Given the description of an element on the screen output the (x, y) to click on. 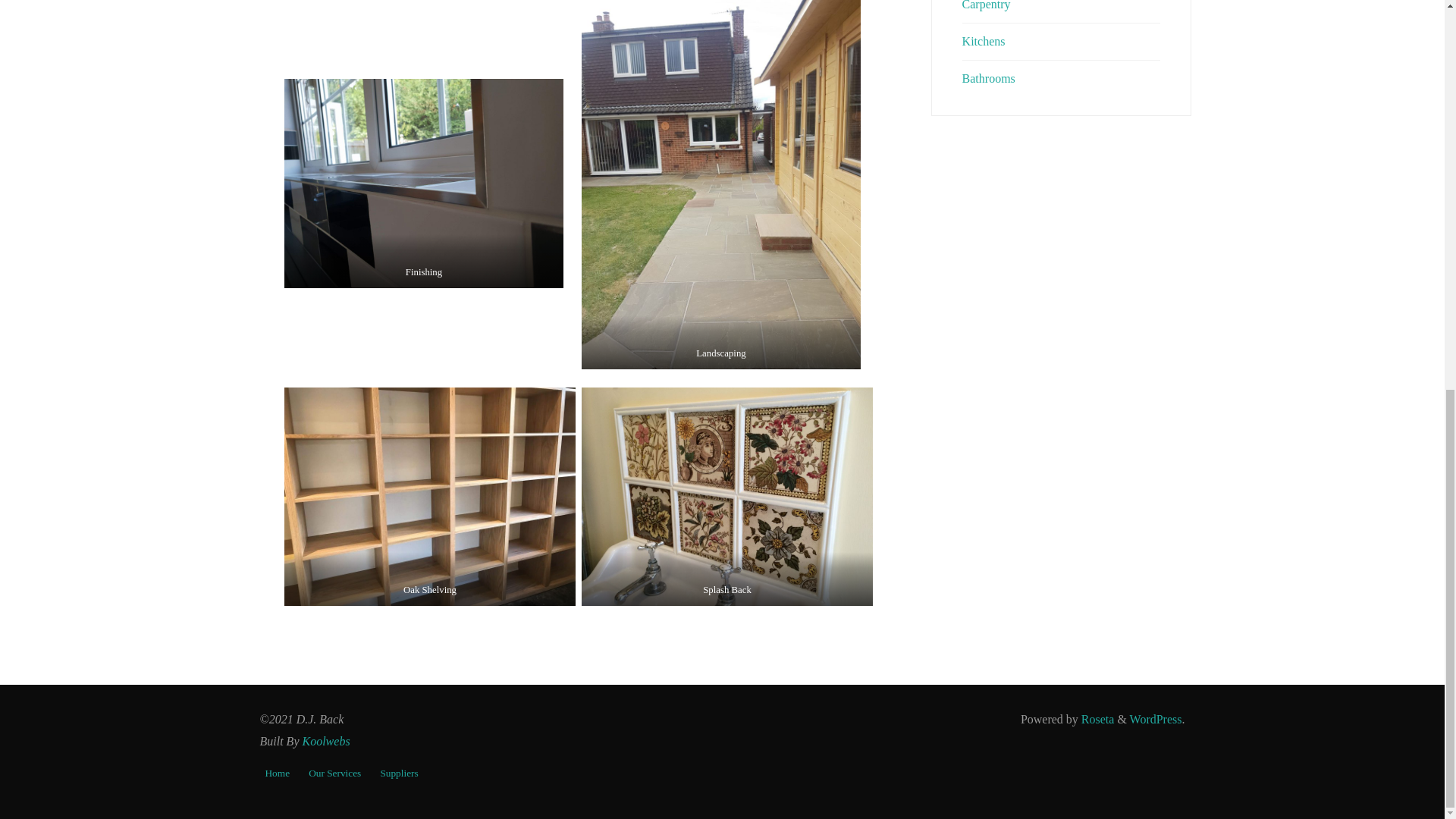
Carpentry (986, 5)
Roseta WordPress Theme by Cryout Creations (1096, 718)
Semantic Personal Publishing Platform (1155, 718)
